Given the description of an element on the screen output the (x, y) to click on. 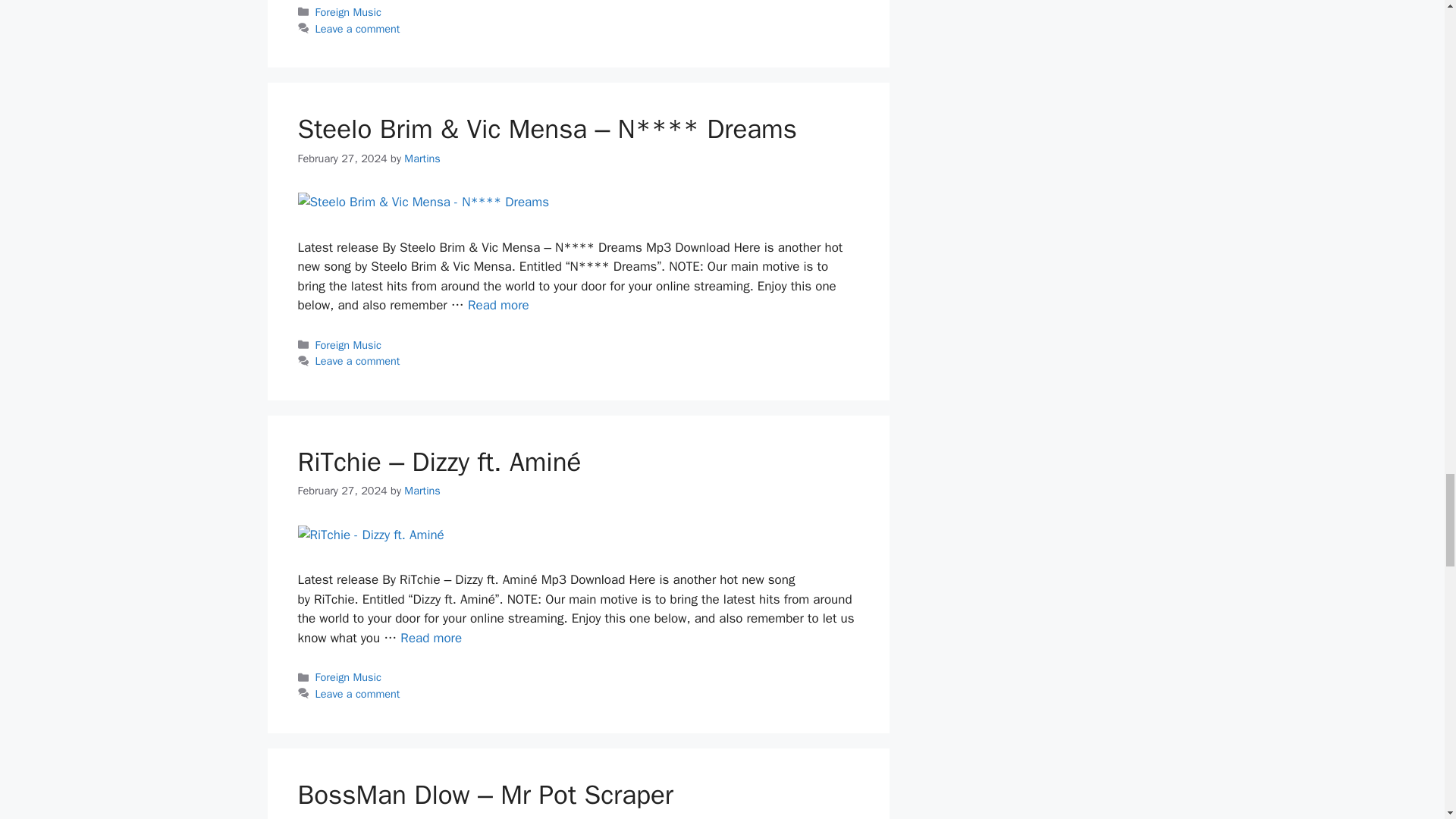
View all posts by Martins (422, 158)
View all posts by Martins (422, 490)
